Given the description of an element on the screen output the (x, y) to click on. 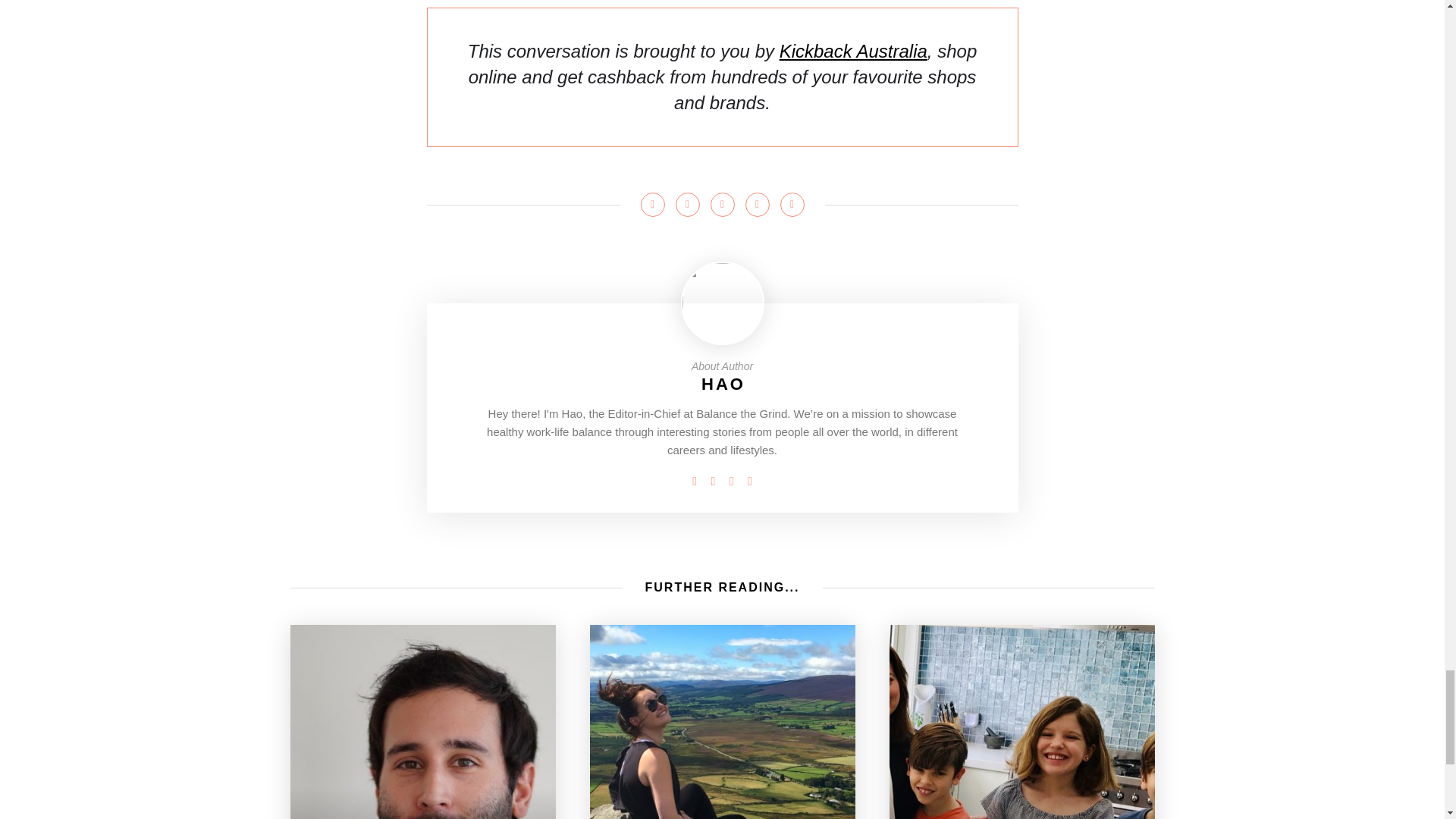
Posts by hao (723, 383)
